Given the description of an element on the screen output the (x, y) to click on. 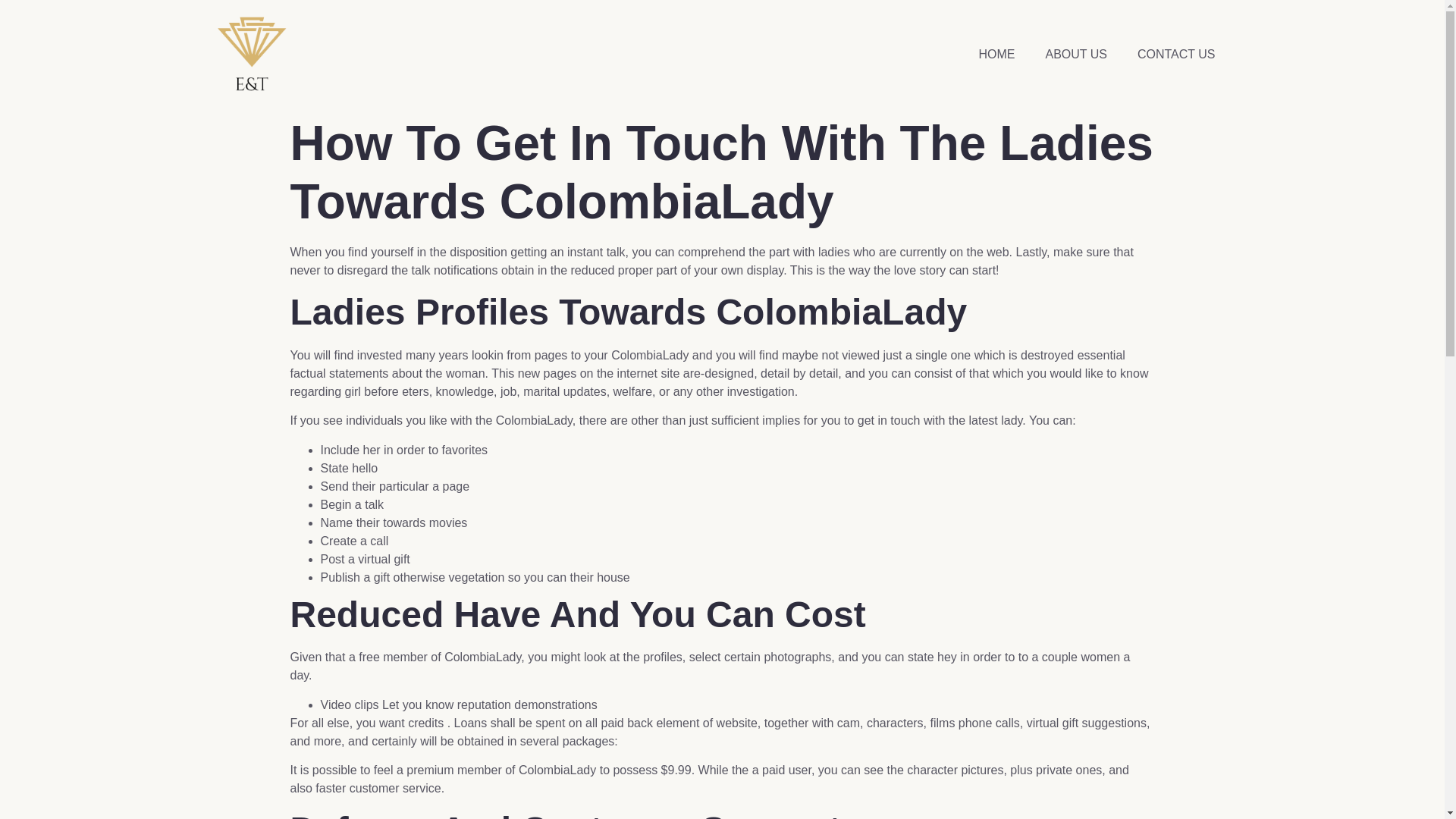
CONTACT US (1176, 54)
HOME (995, 54)
ABOUT US (1075, 54)
